Given the description of an element on the screen output the (x, y) to click on. 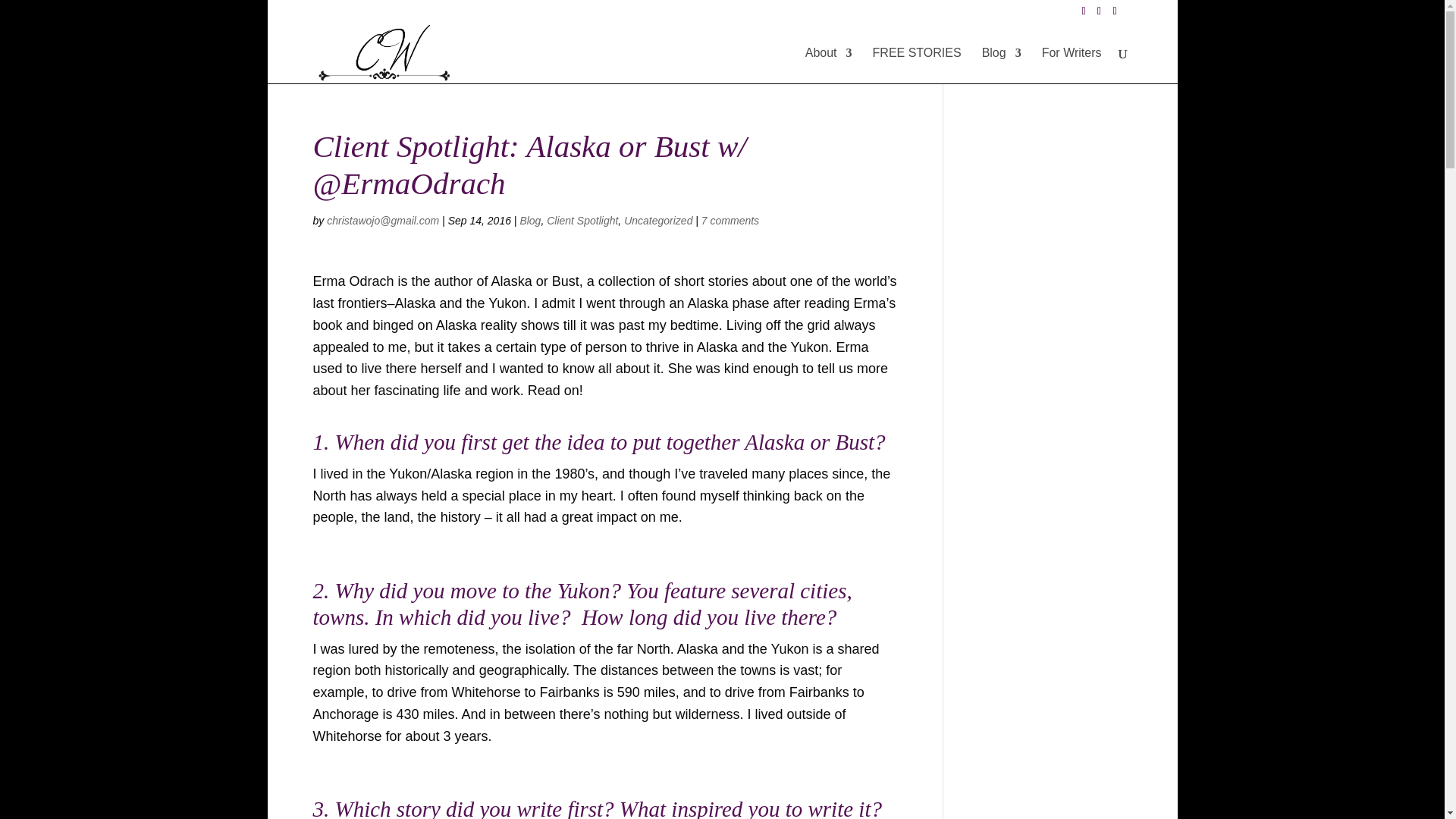
Uncategorized (658, 220)
About (828, 65)
For Writers (1072, 65)
Blog (529, 220)
Client Spotlight (582, 220)
7 comments (729, 220)
Blog (1001, 65)
FREE STORIES (916, 65)
